Given the description of an element on the screen output the (x, y) to click on. 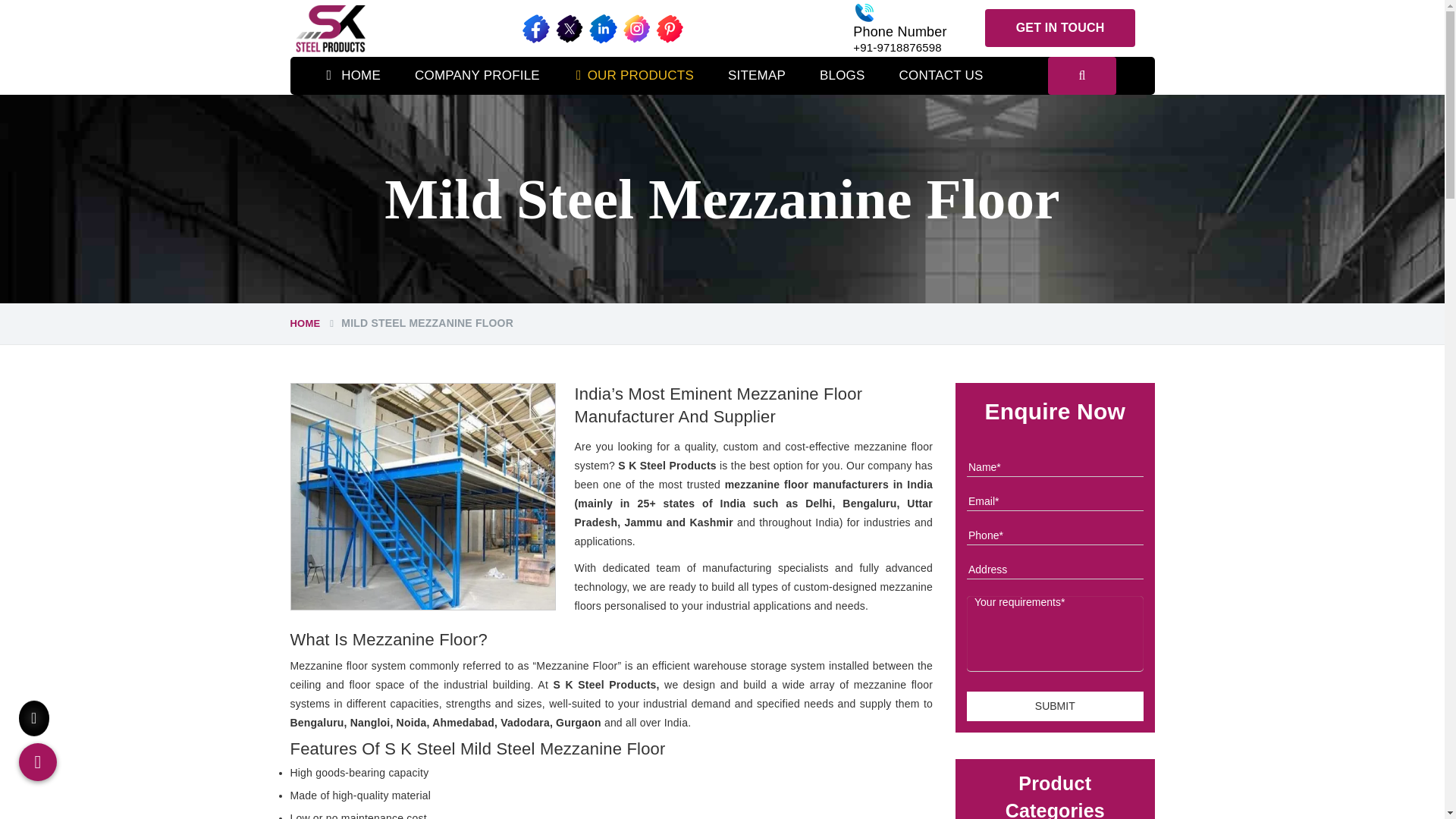
Facebook (536, 28)
COMPANY PROFILE (477, 75)
submit (1054, 706)
Instagram (635, 28)
GET IN TOUCH (1060, 27)
Linkedin (602, 28)
Pinterest (668, 28)
Company Profile (477, 75)
Home (352, 75)
S K Steel Products (330, 28)
Twitter (569, 28)
HOME (352, 75)
OUR PRODUCTS (633, 75)
